Given the description of an element on the screen output the (x, y) to click on. 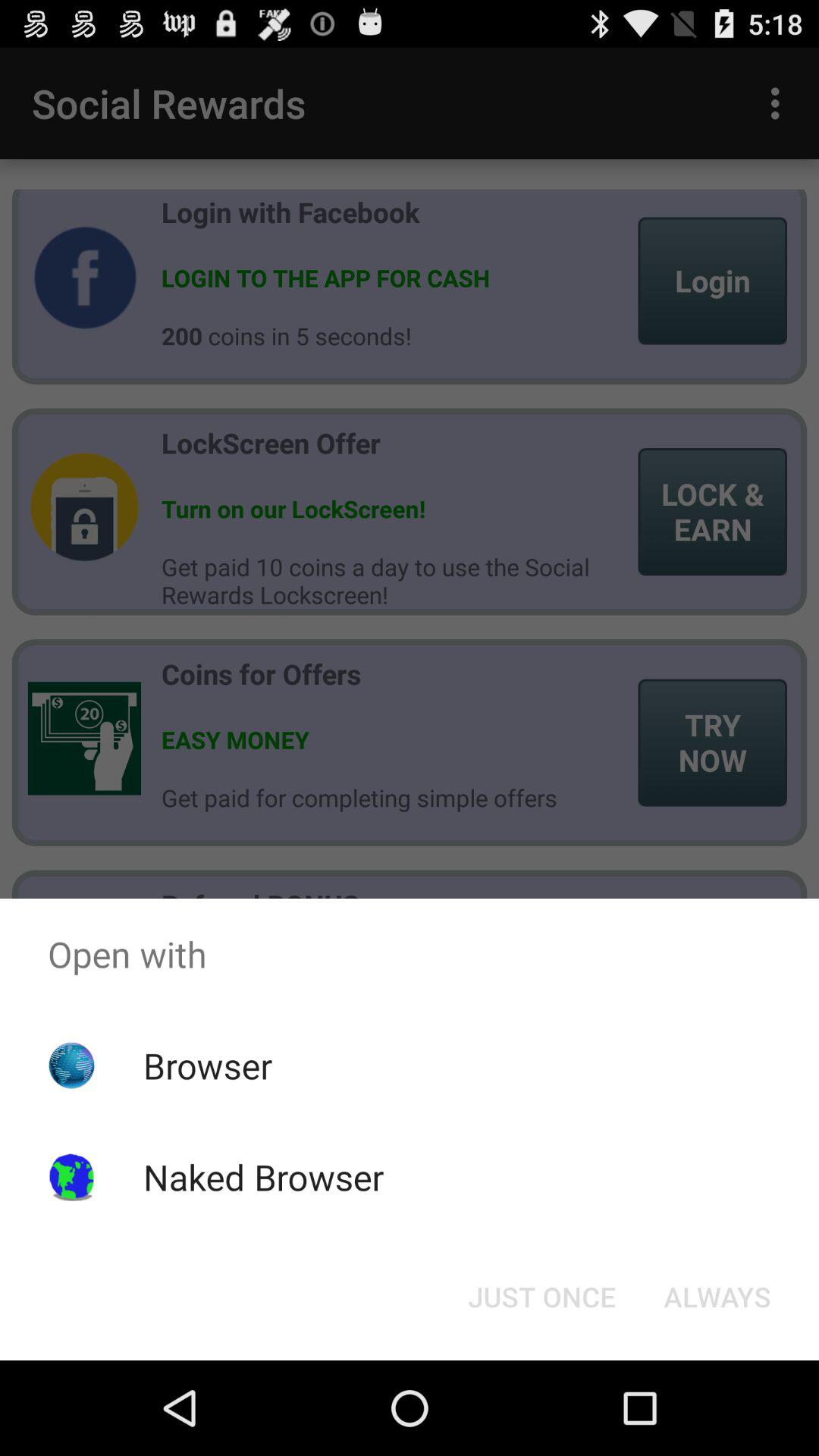
turn off always at the bottom right corner (717, 1296)
